Given the description of an element on the screen output the (x, y) to click on. 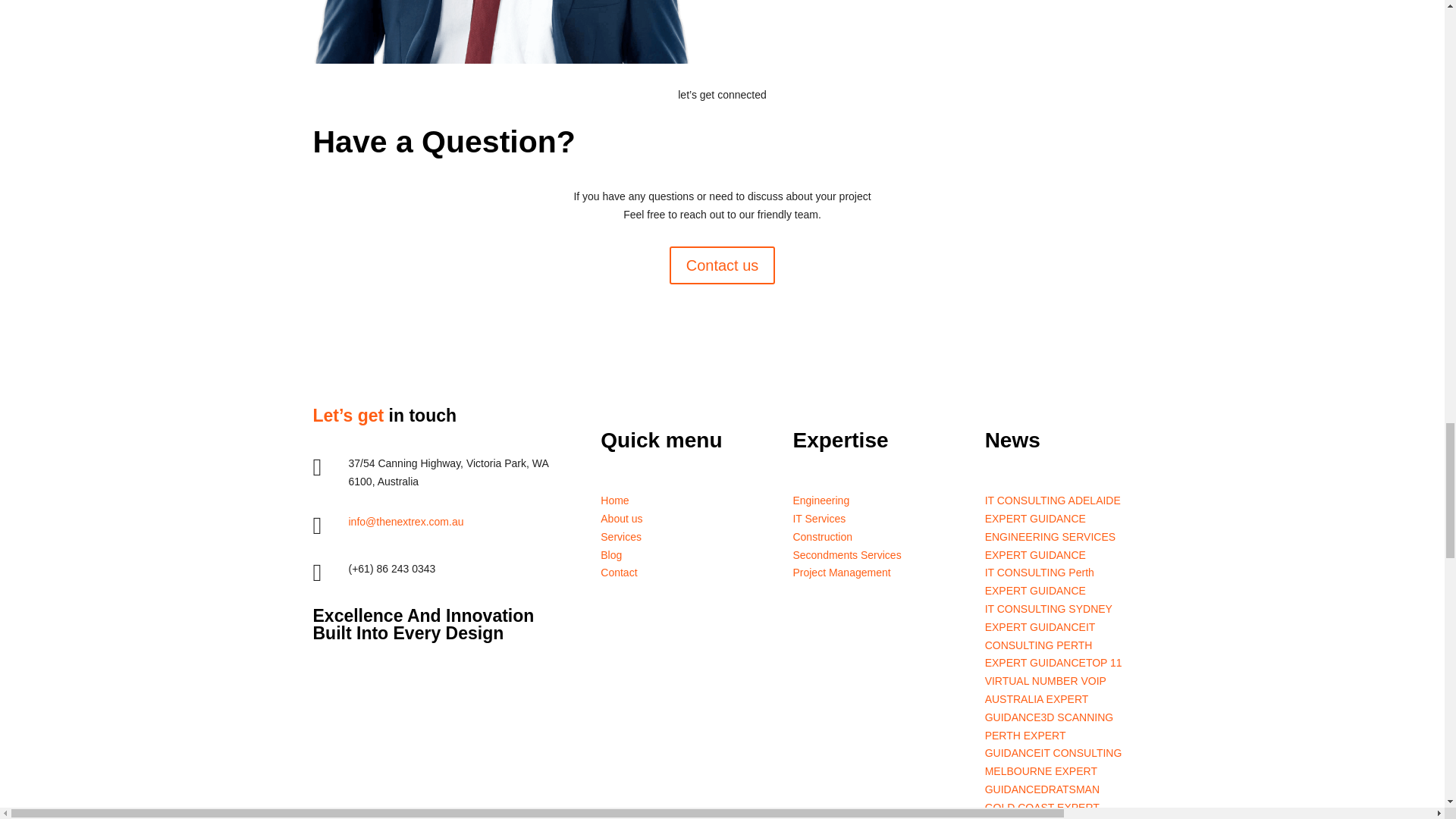
person-stock-2 (500, 31)
